Given the description of an element on the screen output the (x, y) to click on. 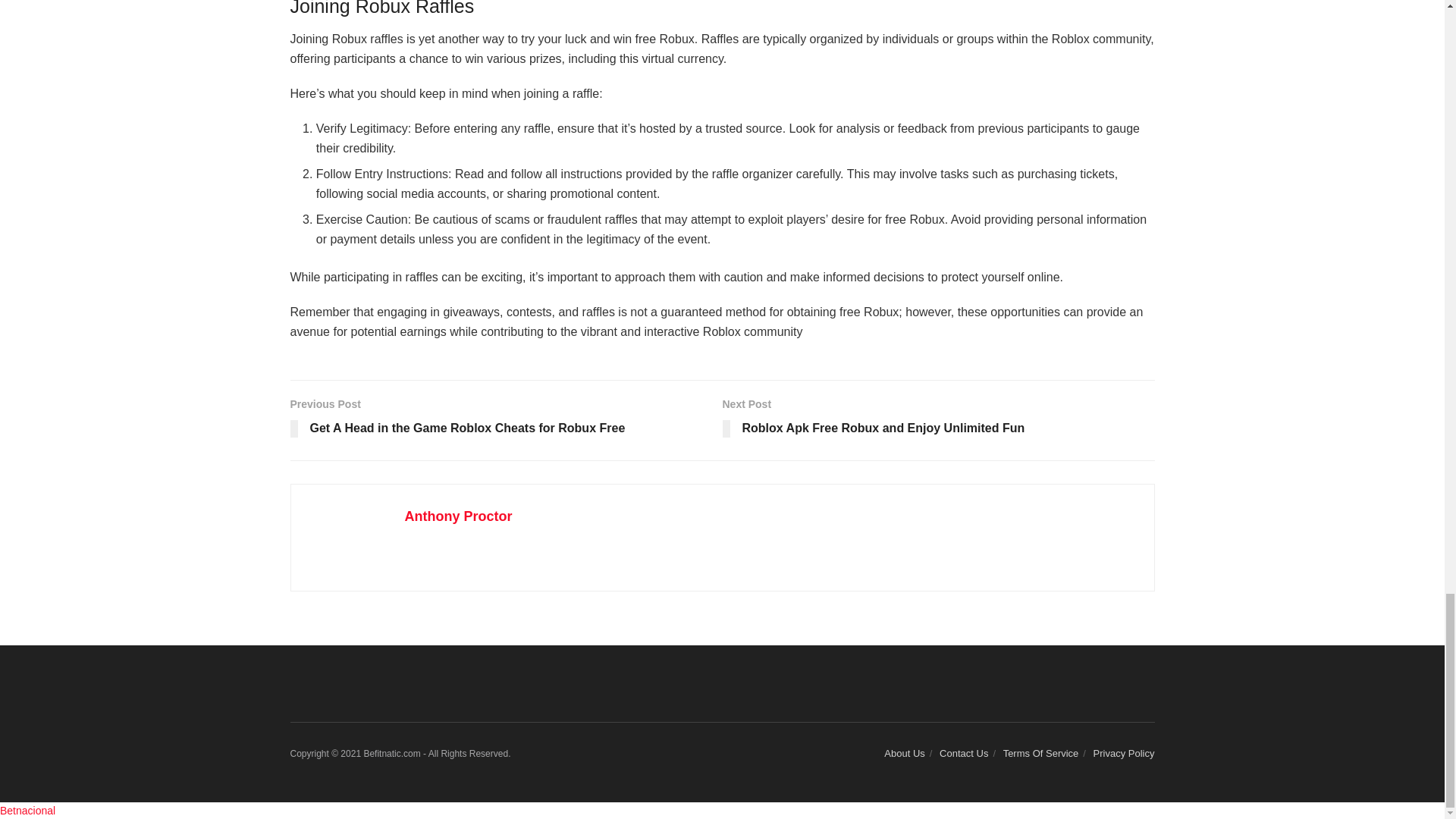
Terms Of Service (1040, 753)
Anthony Proctor (458, 516)
About Us (903, 753)
Contact Us (938, 420)
